Given the description of an element on the screen output the (x, y) to click on. 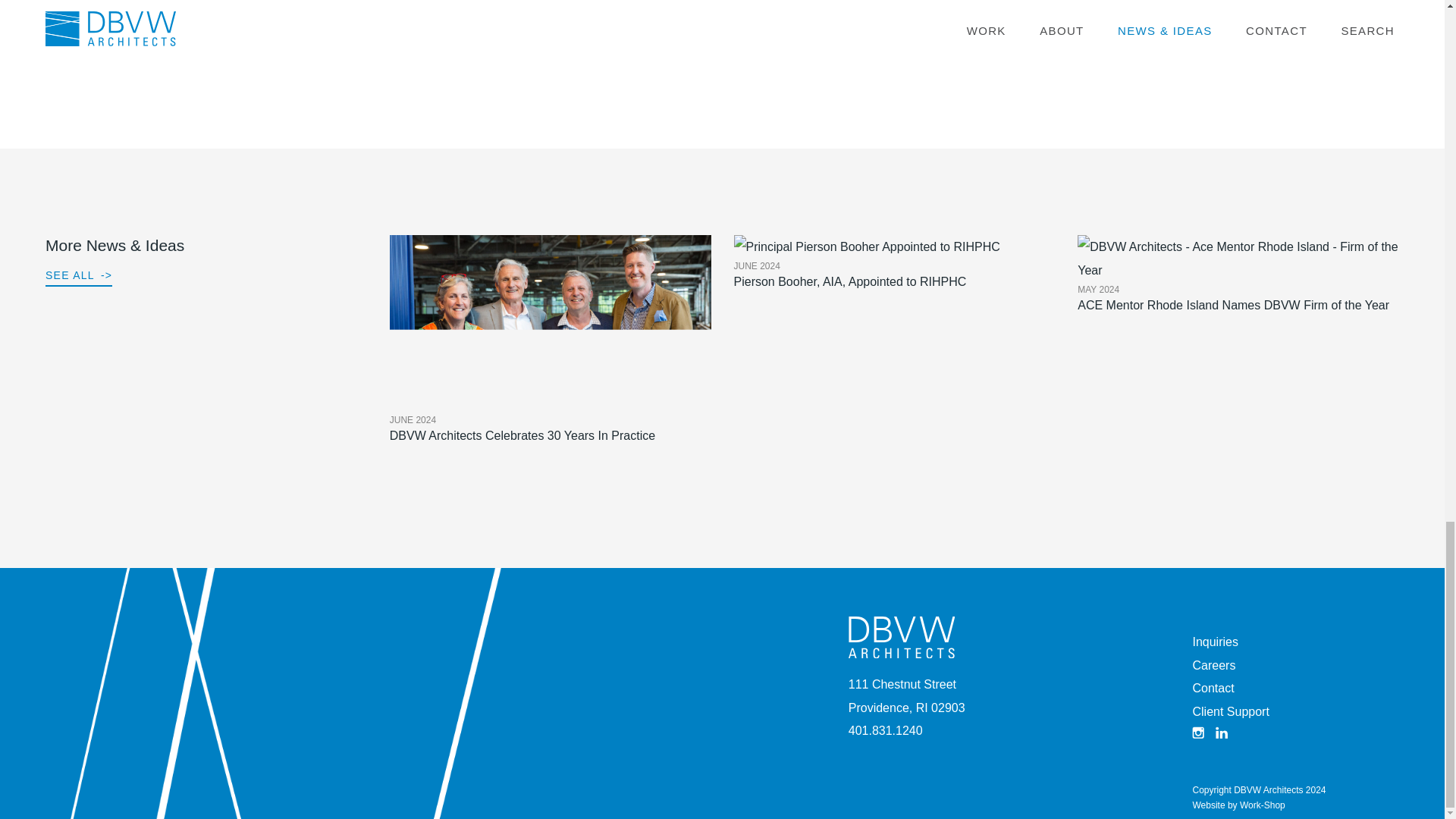
Website by Work-Shop (1238, 805)
Client Support (1230, 711)
Careers (1213, 665)
SEE ALL (78, 276)
Contact (894, 285)
Click here to read more about LCHC. (1212, 687)
Inquiries (400, 9)
